Given the description of an element on the screen output the (x, y) to click on. 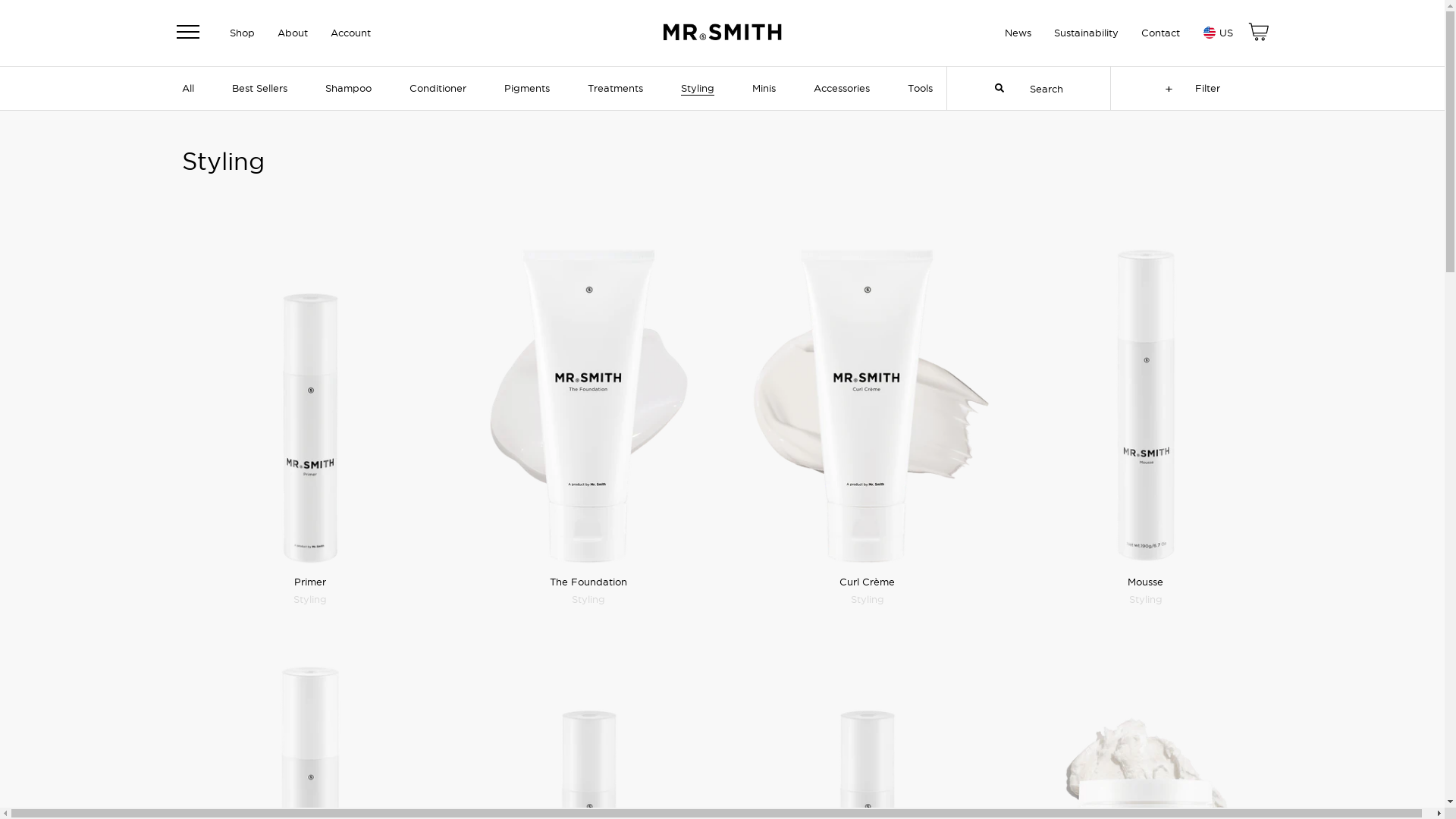
US Element type: text (1215, 32)
Shampoo Element type: text (348, 88)
The Foundation Element type: text (588, 581)
Pigments Element type: text (526, 88)
Styling Element type: text (867, 598)
Sustainability Element type: text (1086, 32)
Treatments Element type: text (615, 88)
Shop Element type: text (241, 32)
About Element type: text (292, 32)
Primer Element type: text (310, 581)
Minis Element type: text (763, 88)
Mousse Element type: text (1145, 581)
News Element type: text (1017, 32)
Conditioner Element type: text (437, 88)
Contact Element type: text (1159, 32)
Styling Element type: text (697, 88)
Account Element type: text (350, 32)
All Element type: text (188, 88)
Accessories Element type: text (841, 88)
Styling Element type: text (309, 598)
Styling Element type: text (588, 598)
Tools Element type: text (919, 88)
Best Sellers Element type: text (259, 88)
Styling Element type: text (1145, 598)
